Given the description of an element on the screen output the (x, y) to click on. 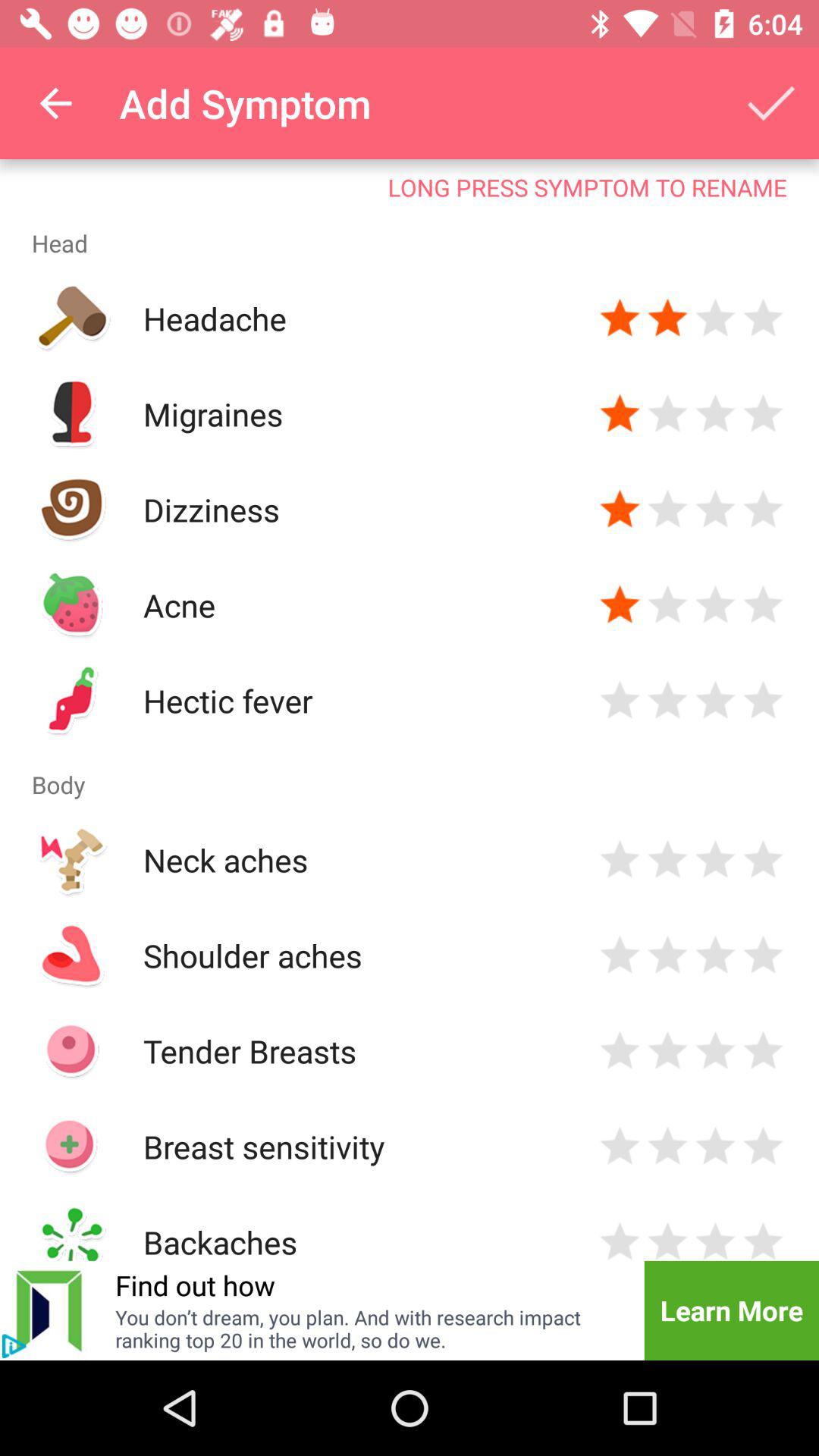
rate three stars (715, 1050)
